Given the description of an element on the screen output the (x, y) to click on. 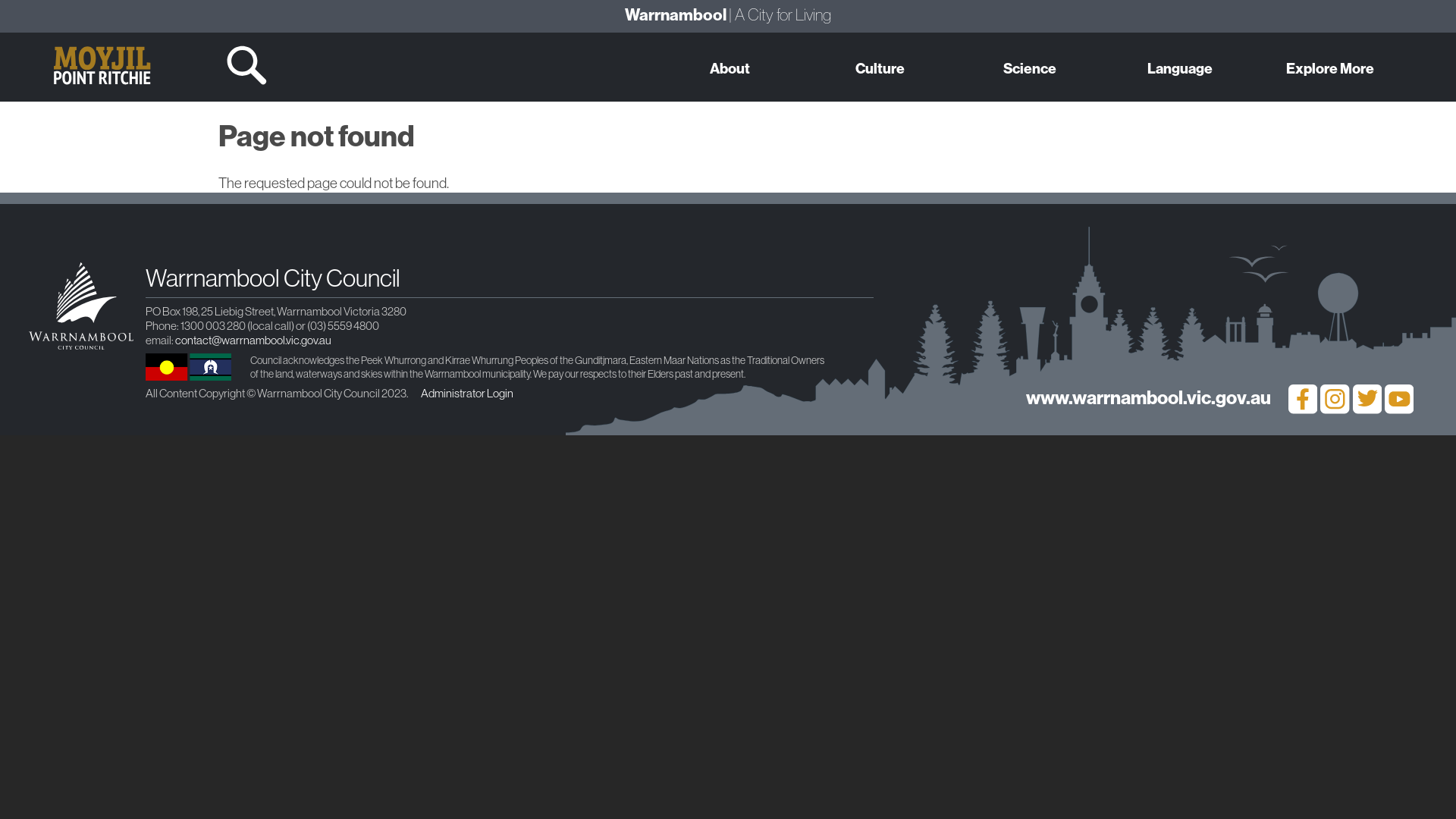
Administrator Login Element type: text (466, 392)
Culture Element type: text (880, 66)
About Element type: text (730, 66)
Science Element type: text (1029, 66)
Explore More Element type: text (1330, 66)
Home Element type: text (101, 37)
Language Element type: text (1179, 66)
contact@warrnambool.vic.gov.au Element type: text (253, 339)
